Given the description of an element on the screen output the (x, y) to click on. 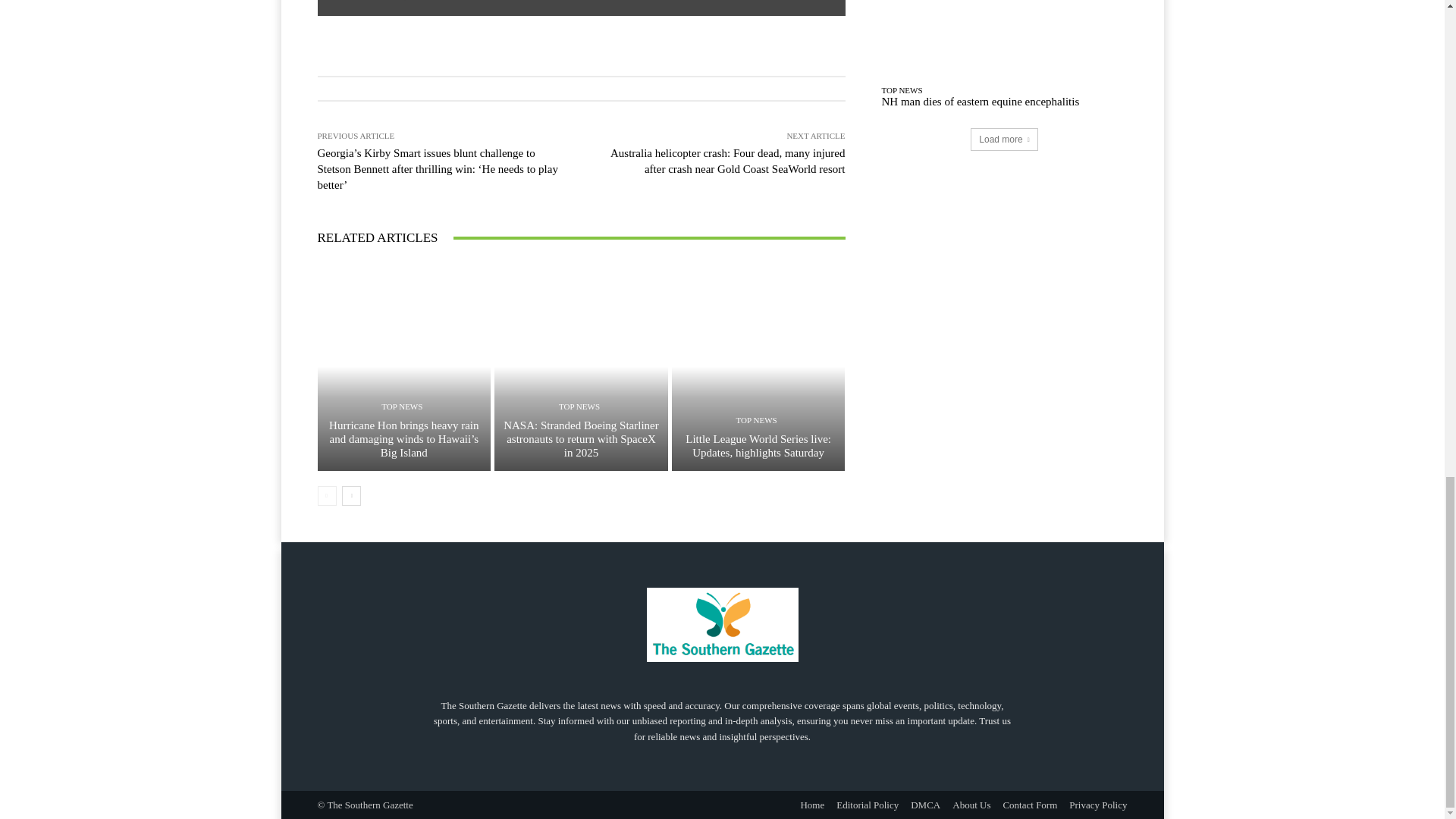
TOP NEWS (401, 406)
See also  4 Ways to Protect Your Child From the Summer Heat (580, 8)
TOP NEWS (579, 406)
TOP NEWS (756, 420)
